Given the description of an element on the screen output the (x, y) to click on. 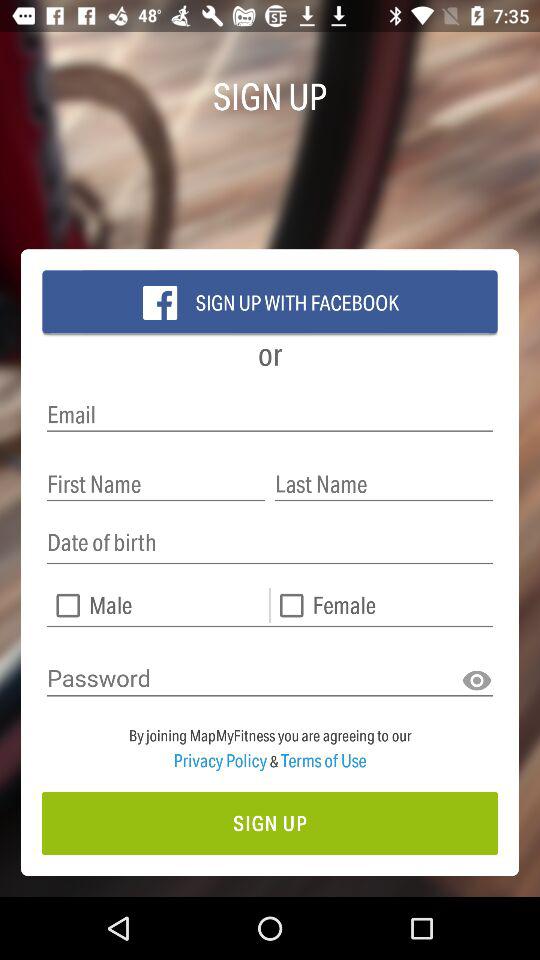
select the text field which is above the two lines text from the bottom (269, 678)
click on the text box which says last name (383, 483)
select the check box male which is before checkbox female on the page (157, 605)
select the text above sign up (269, 740)
click to signup (269, 823)
